Given the description of an element on the screen output the (x, y) to click on. 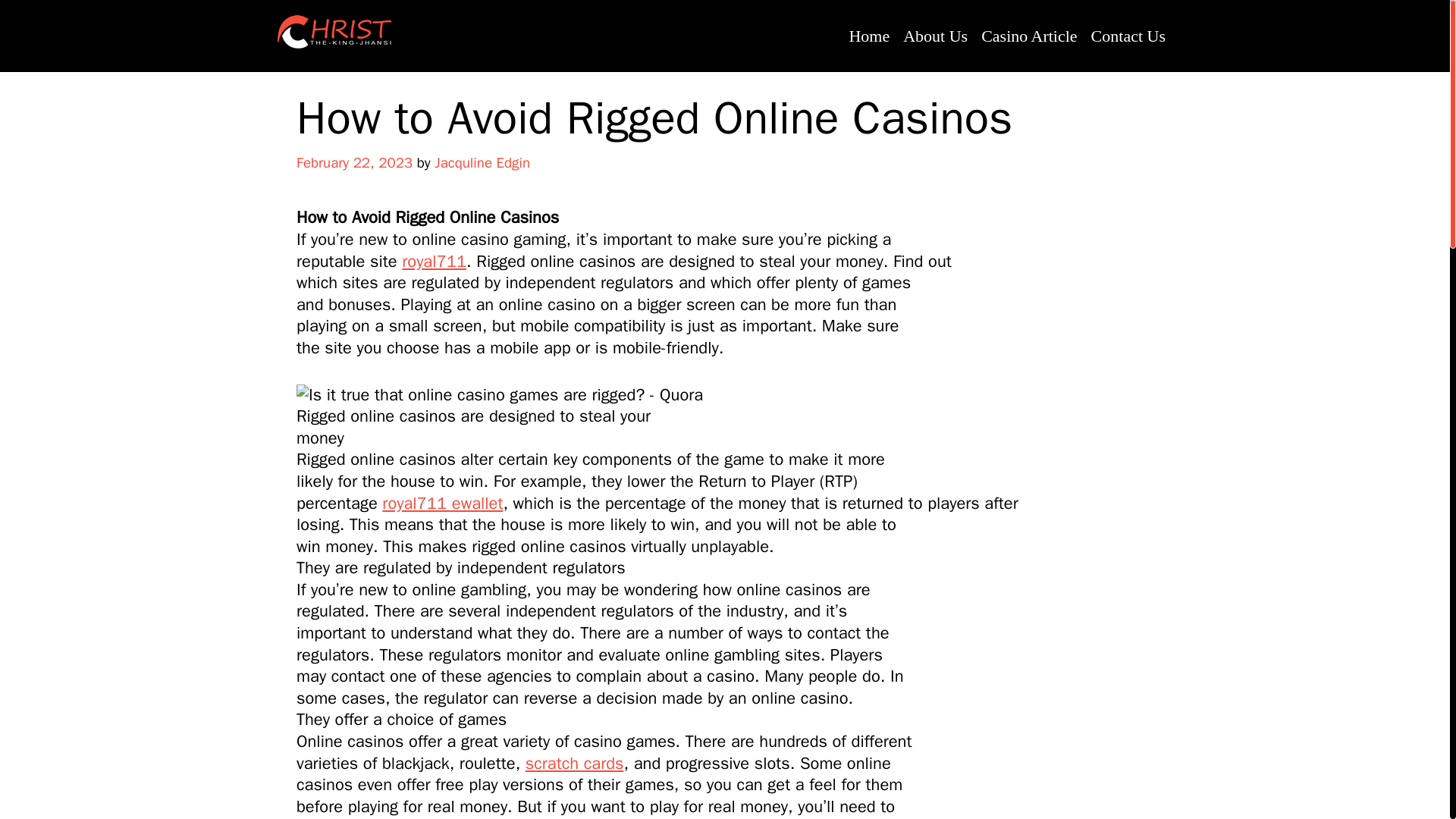
Contact Us (1128, 35)
Home (868, 35)
Christ The King Jhansi (334, 30)
royal711 (433, 260)
About Us (935, 35)
3:04 am (354, 162)
Casino Article (1028, 35)
royal711 ewallet (441, 503)
Jacquline Edgin (481, 162)
Christ The King Jhansi (334, 31)
